Given the description of an element on the screen output the (x, y) to click on. 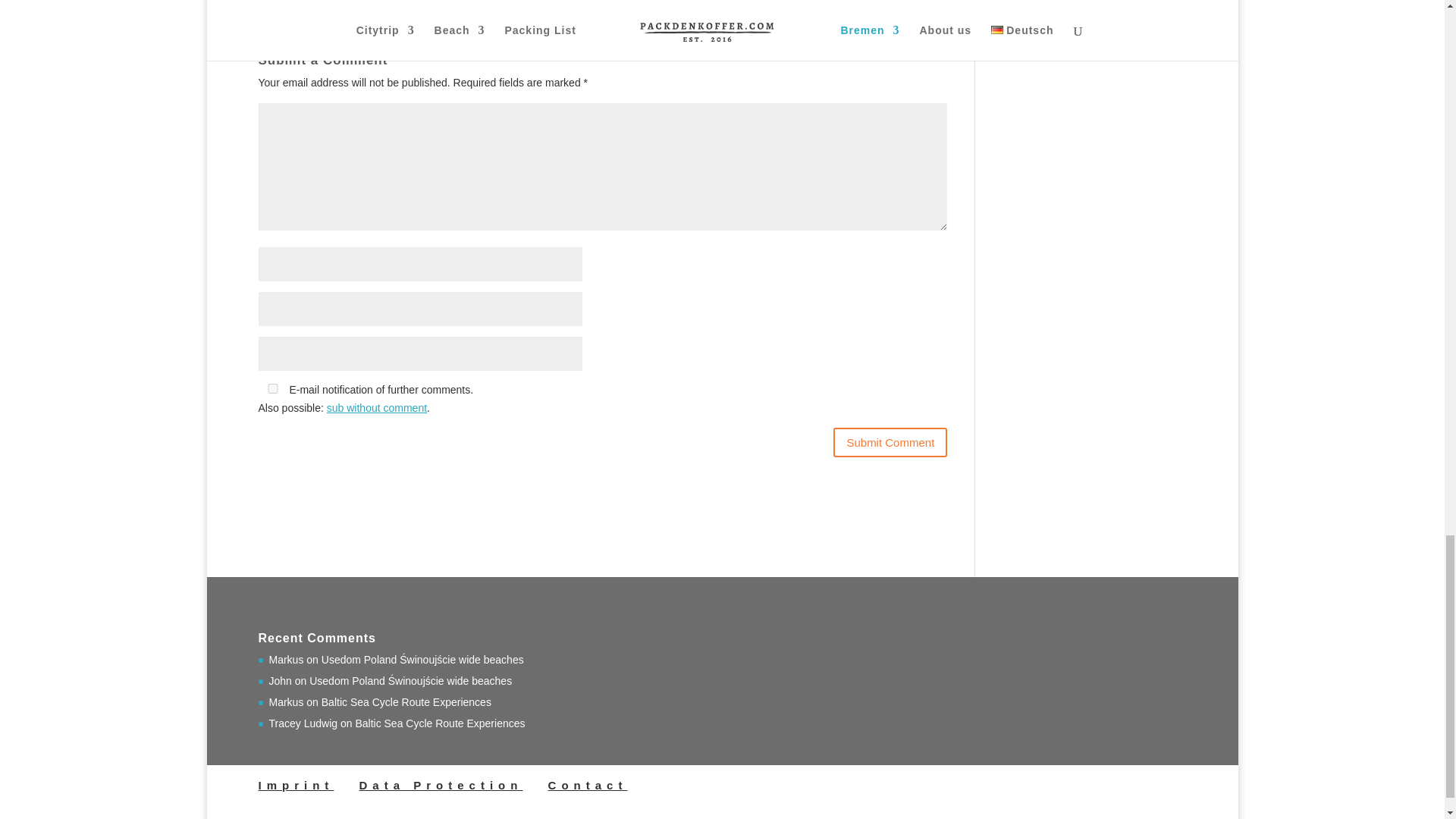
Submit Comment (889, 442)
yes (271, 388)
